Given the description of an element on the screen output the (x, y) to click on. 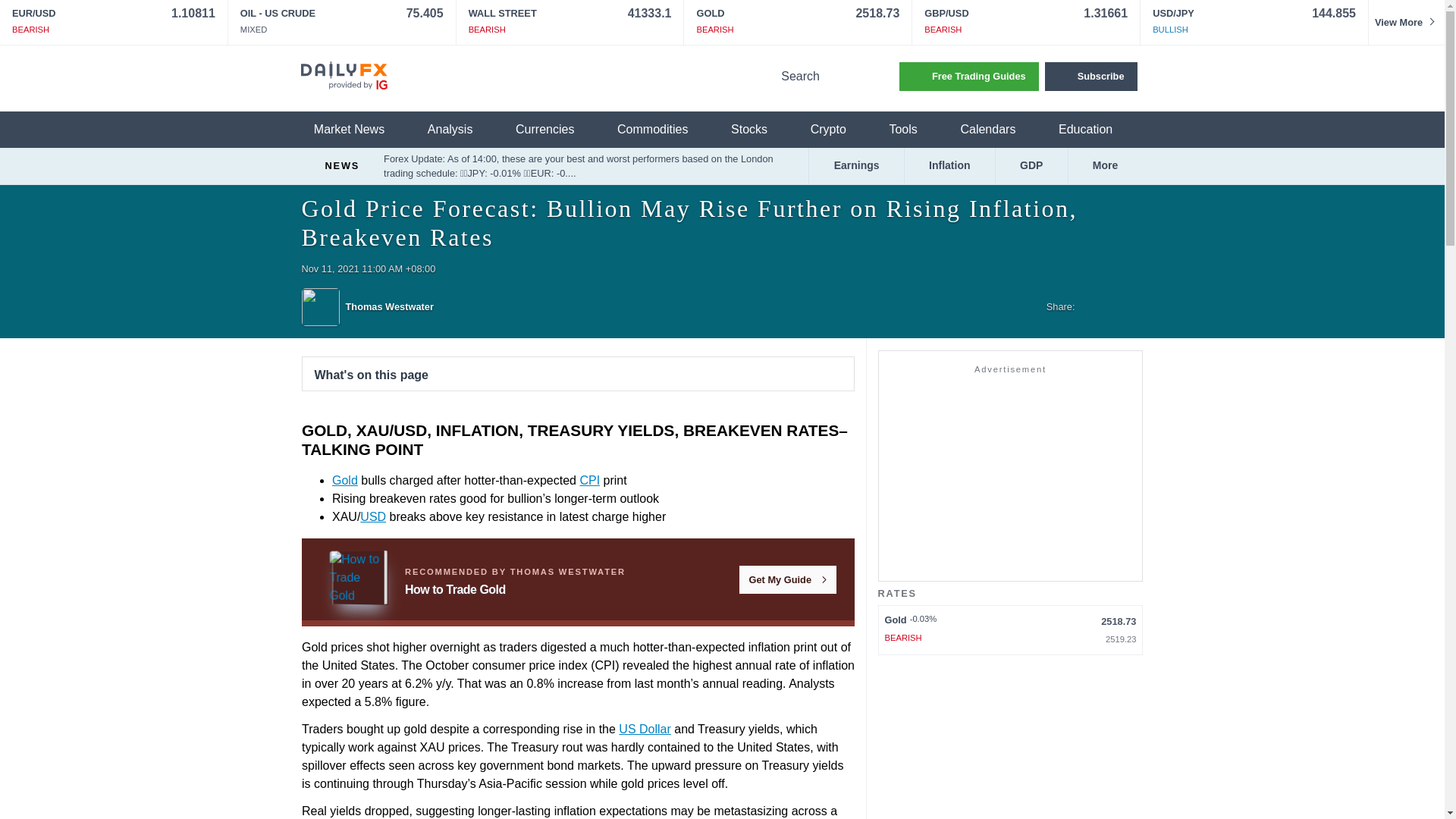
US Dollar (643, 728)
USD (372, 516)
Analysis (458, 129)
CPI (589, 480)
Gold (344, 480)
Currencies (554, 129)
Subscribe (1091, 76)
Market News (357, 129)
Free Trading Guides (969, 76)
